Given the description of an element on the screen output the (x, y) to click on. 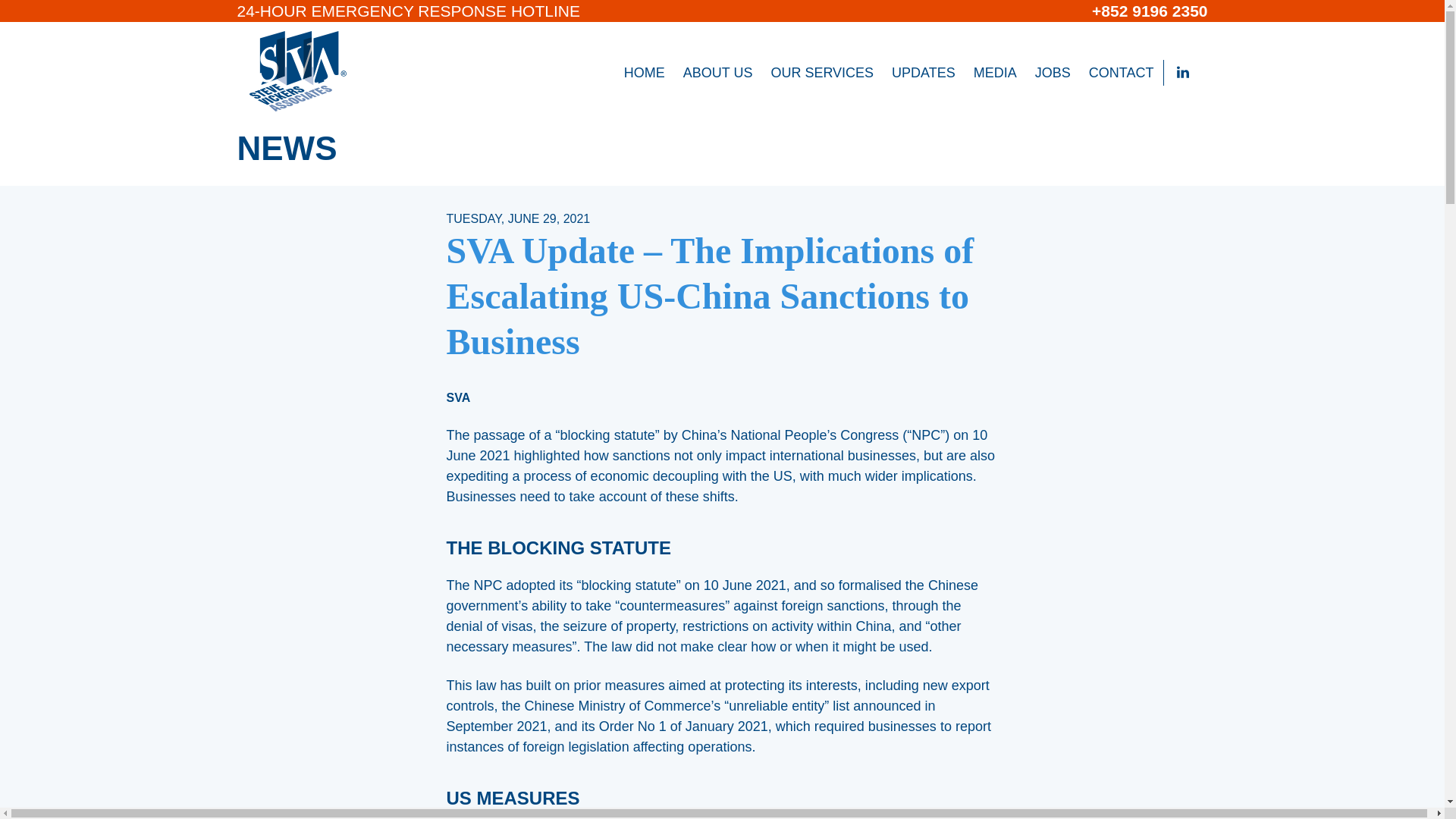
ABOUT US (717, 72)
MEDIA (995, 72)
JOBS (1053, 72)
CONTACT (1121, 72)
UPDATES (922, 72)
NEWS (285, 148)
HOME (644, 72)
OUR SERVICES (821, 72)
